Given the description of an element on the screen output the (x, y) to click on. 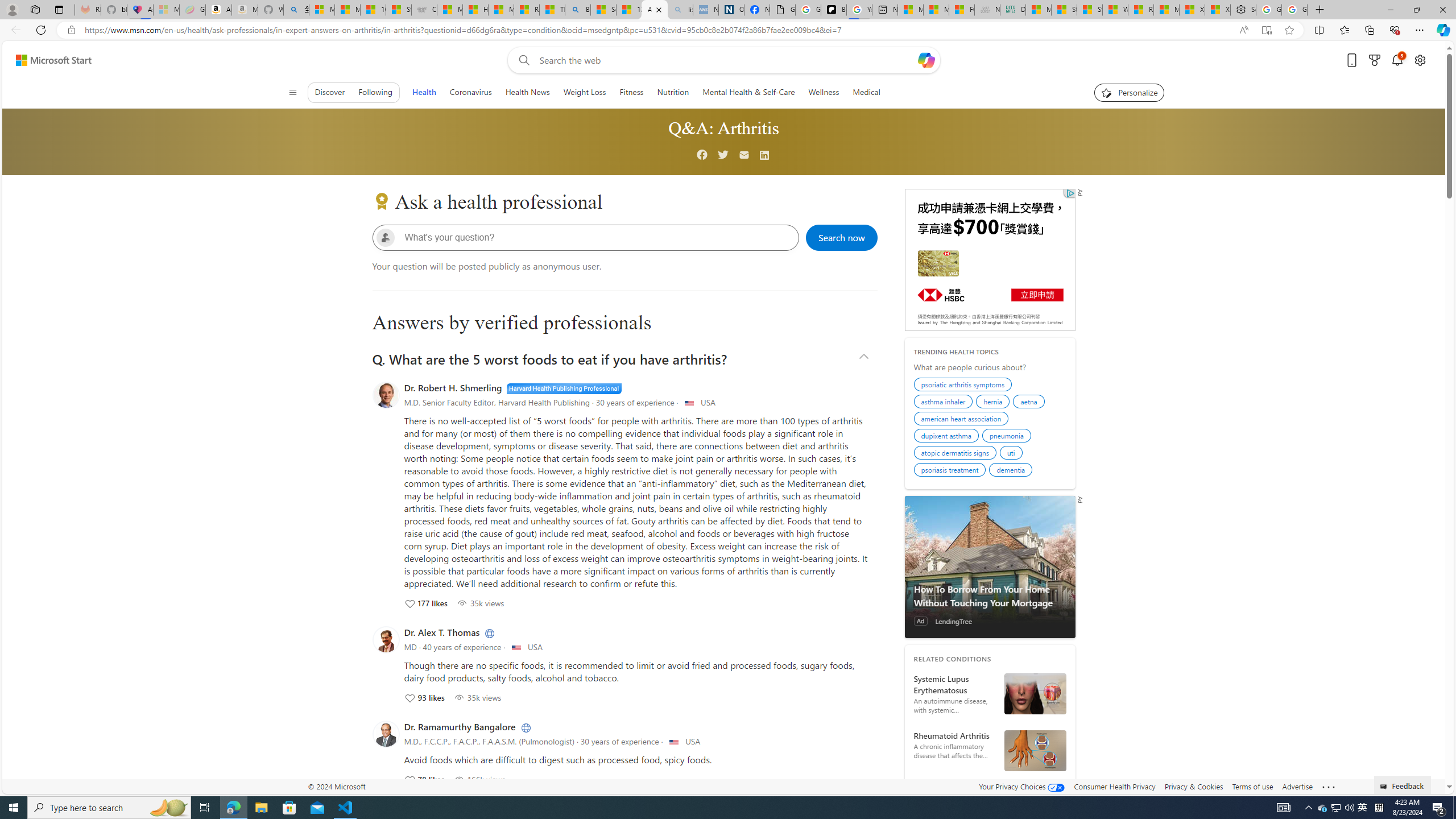
Consumer Health Privacy (1115, 785)
Consumer Health Privacy (1115, 786)
Mental Health & Self-Care (748, 92)
Terms of use (1252, 786)
Q. What are the 5 worst foods to eat if you have arthritis? (624, 358)
aetna (1030, 402)
Class: control icon-only (292, 92)
Nutrition (672, 92)
